Given the description of an element on the screen output the (x, y) to click on. 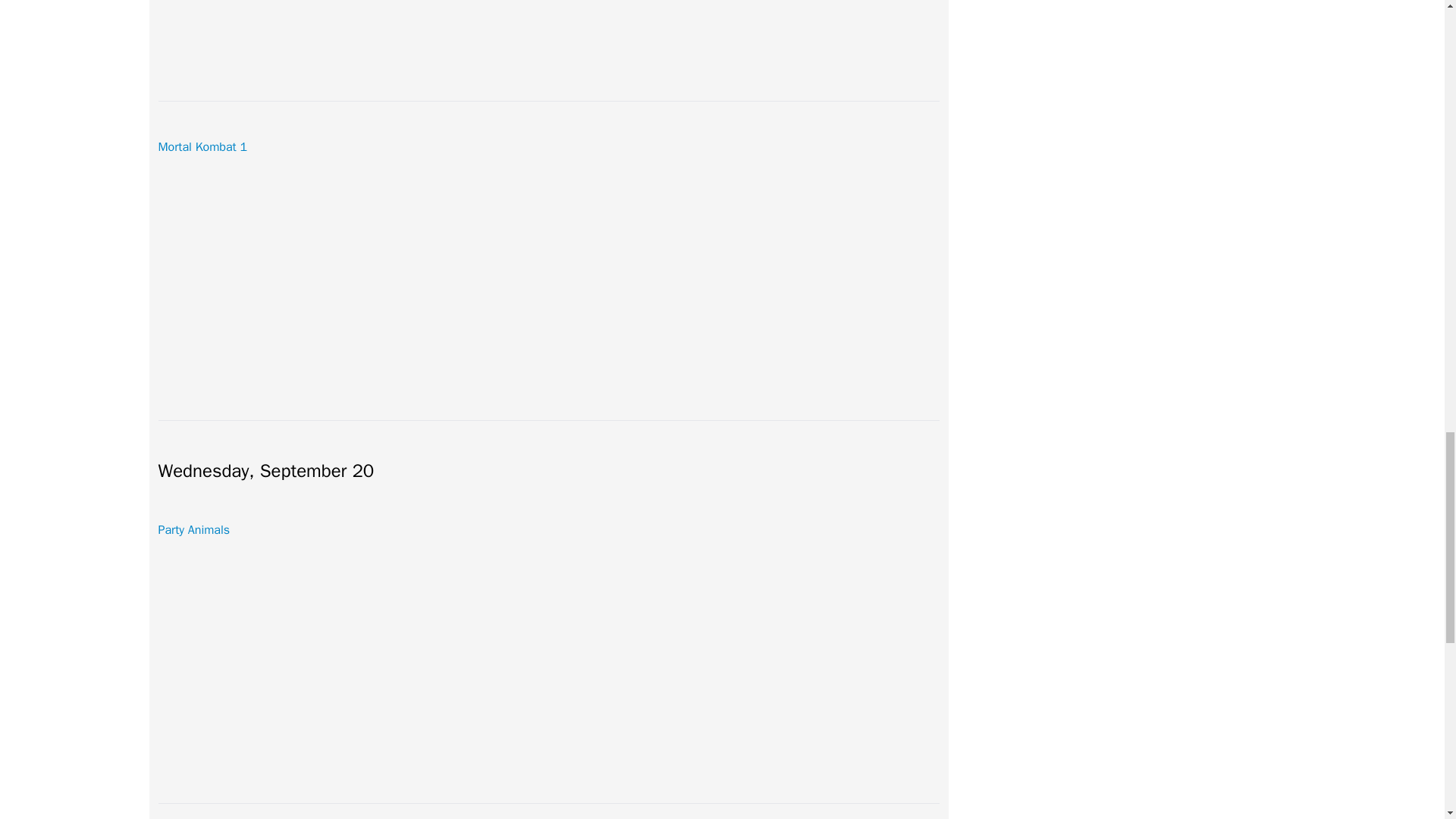
Mortal Kombat 1 (202, 146)
Party Animals (193, 529)
